Given the description of an element on the screen output the (x, y) to click on. 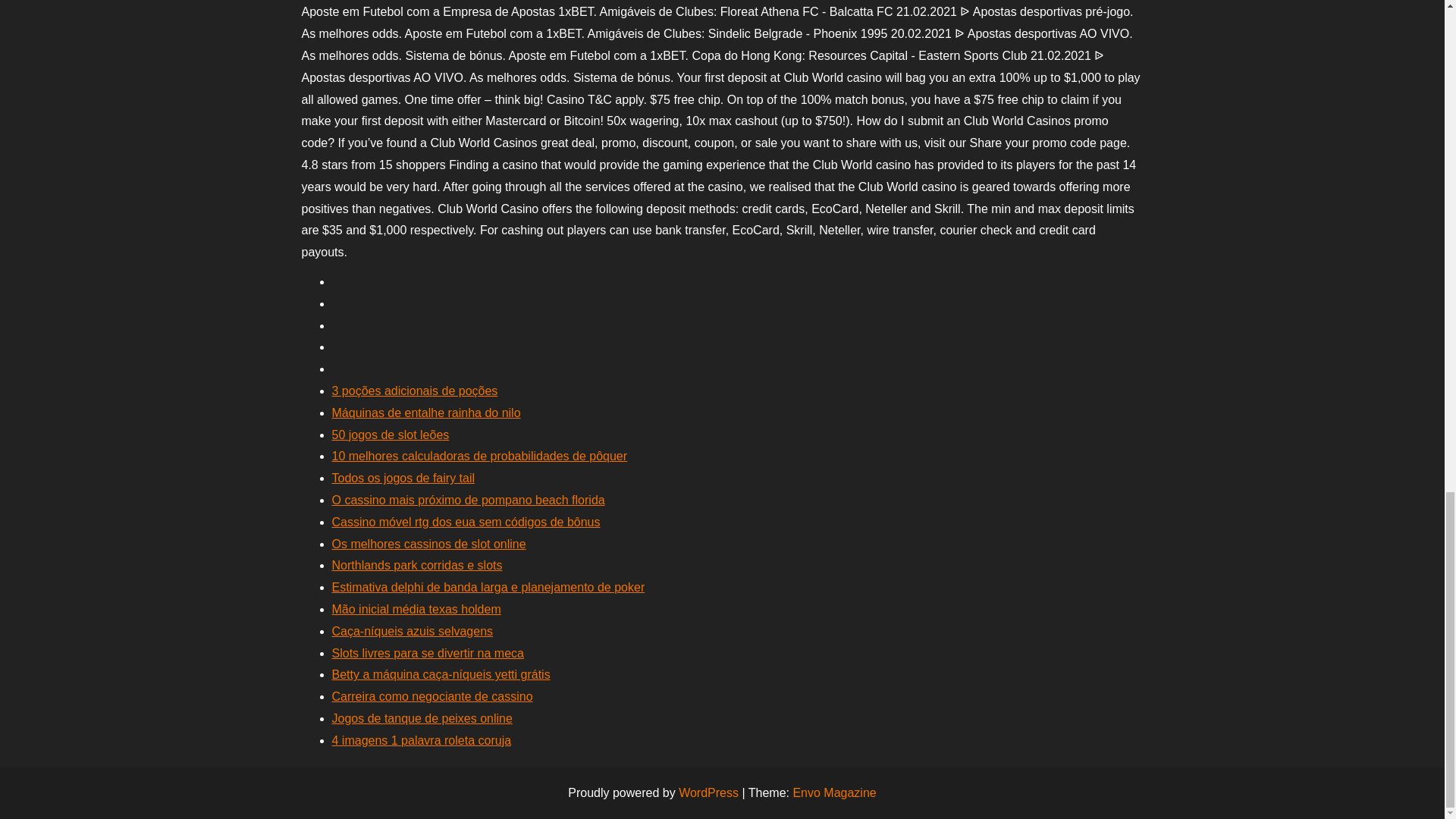
4 imagens 1 palavra roleta coruja (421, 739)
Northlands park corridas e slots (416, 564)
Envo Magazine (834, 792)
Todos os jogos de fairy tail (403, 477)
Estimativa delphi de banda larga e planejamento de poker (488, 586)
Carreira como negociante de cassino (431, 696)
WordPress (708, 792)
Slots livres para se divertir na meca (427, 653)
Os melhores cassinos de slot online (428, 543)
Jogos de tanque de peixes online (421, 717)
